Given the description of an element on the screen output the (x, y) to click on. 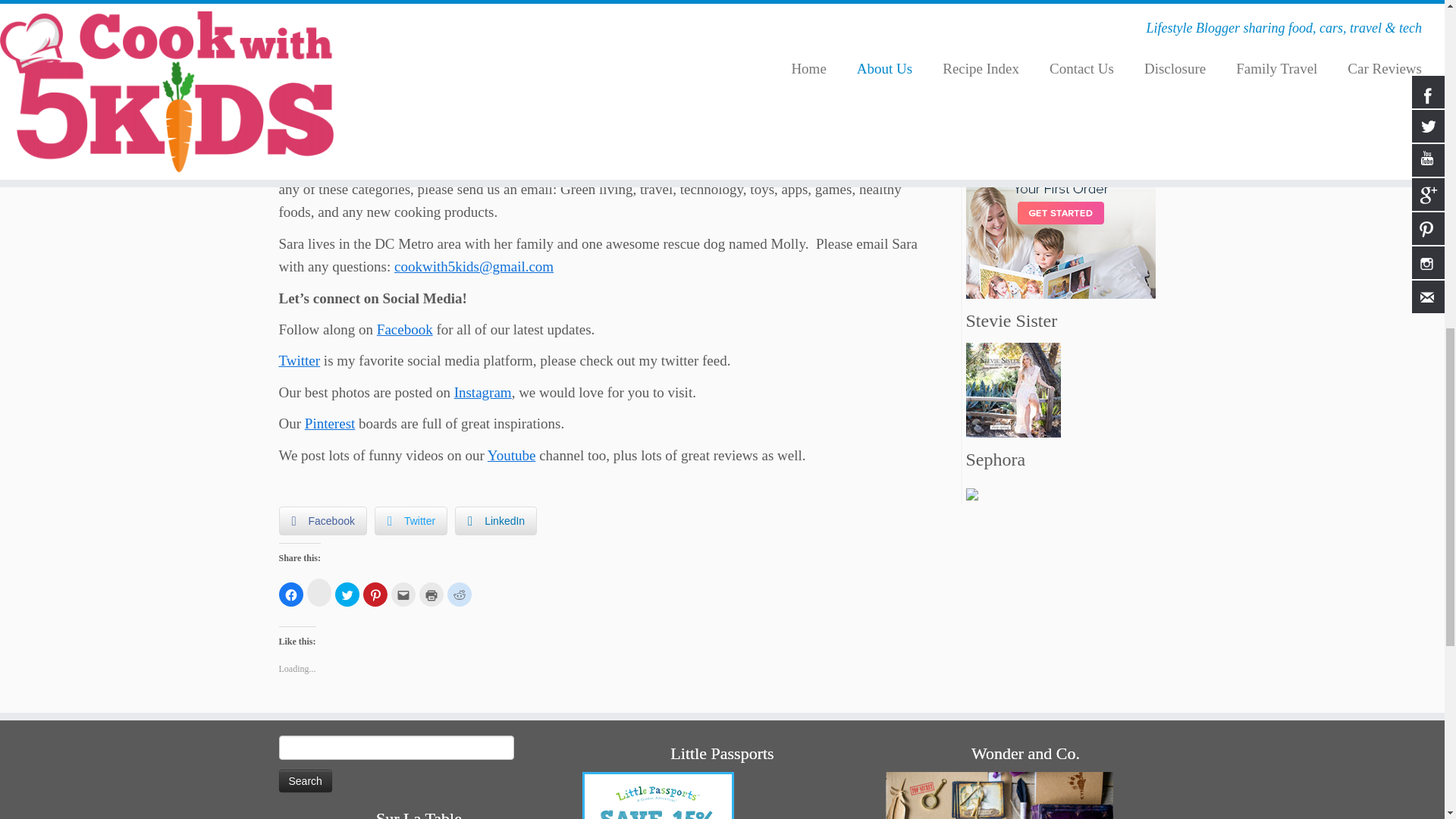
Search (305, 780)
Twitter (410, 520)
Click to share on Reddit (458, 594)
Click to email this to a friend (402, 594)
Twitter (299, 360)
Click to share on Twitter (346, 594)
LinkedIn (495, 520)
Facebook (322, 520)
Click to print (430, 594)
Facebook (404, 329)
